Given the description of an element on the screen output the (x, y) to click on. 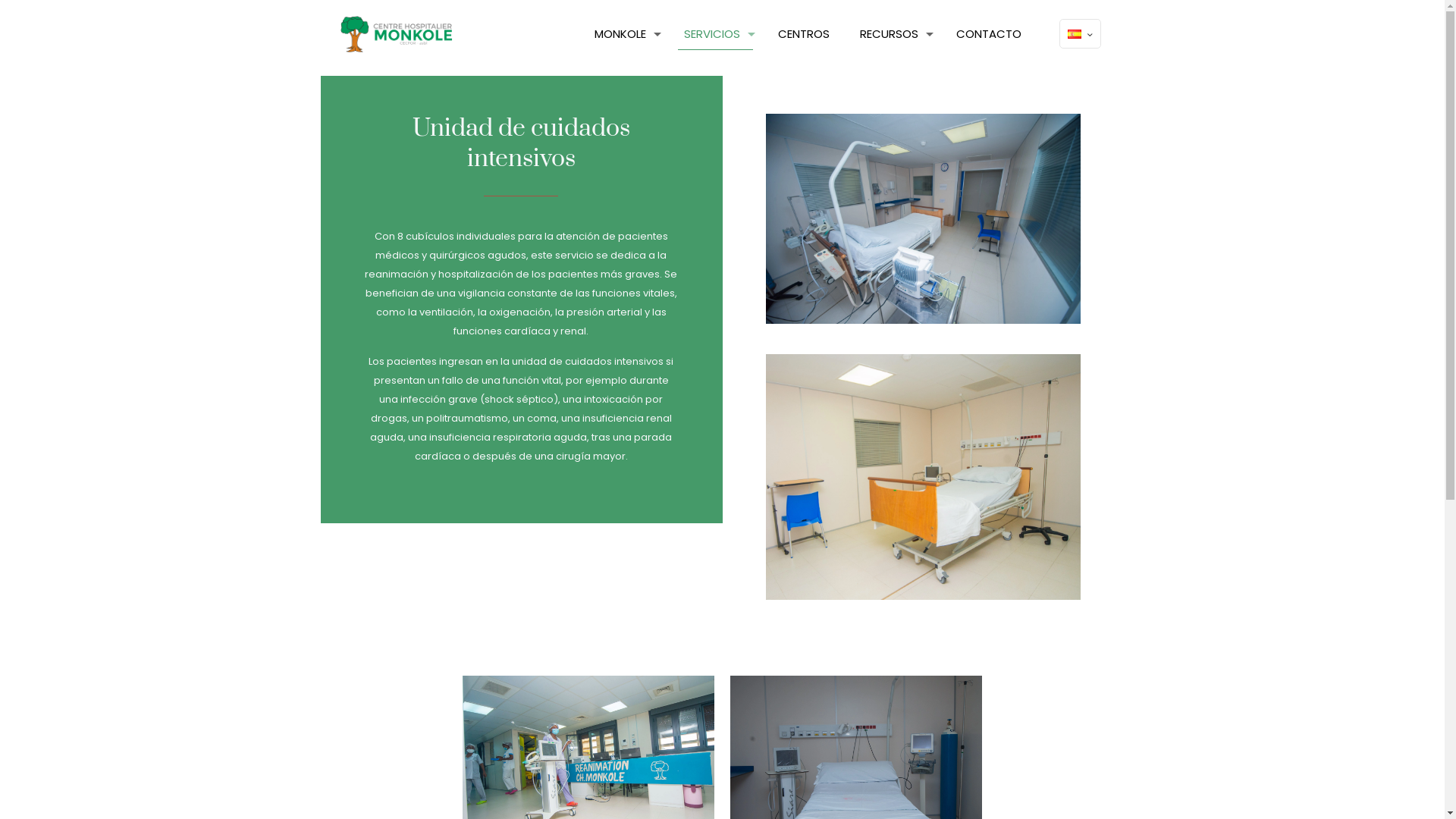
CONTACTO Element type: text (988, 34)
SERVICIOS Element type: text (715, 34)
Centre Hospitalier Monkole Element type: hover (396, 34)
RECURSOS Element type: text (892, 34)
CENTROS Element type: text (803, 34)
MONKOLE Element type: text (623, 34)
